Given the description of an element on the screen output the (x, y) to click on. 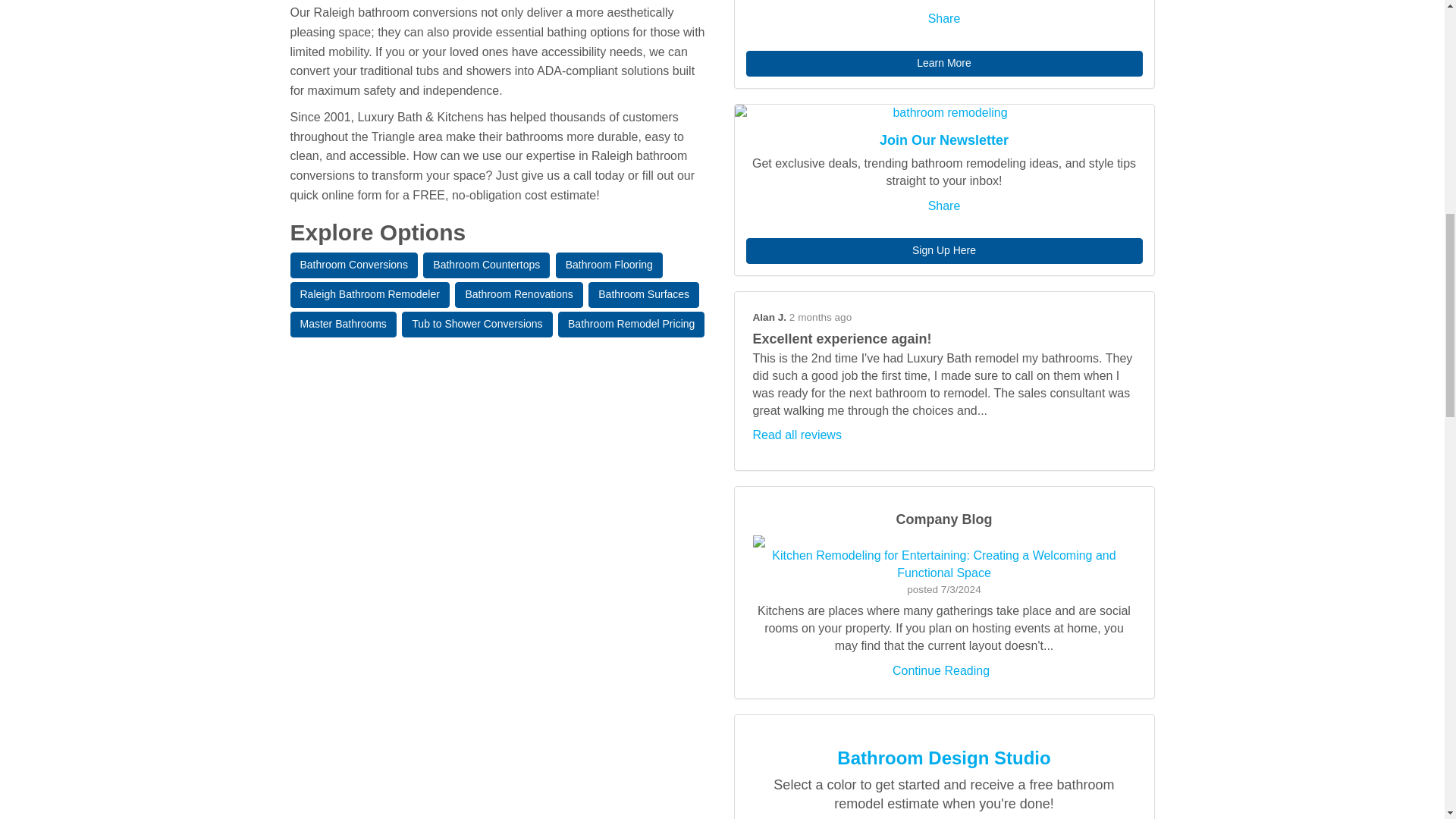
July 03, 2024 (960, 589)
